Given the description of an element on the screen output the (x, y) to click on. 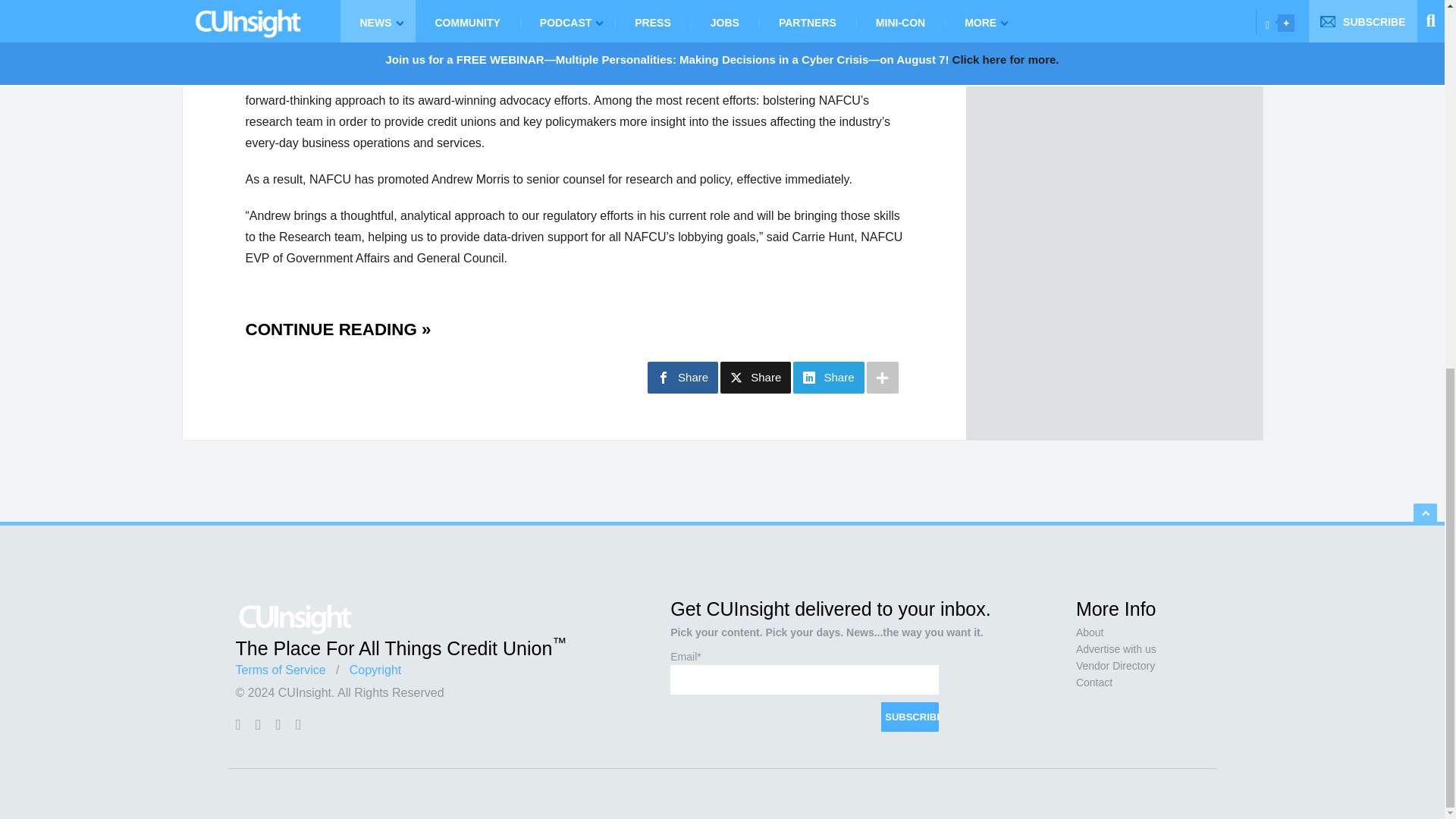
Subscribe (909, 716)
